Given the description of an element on the screen output the (x, y) to click on. 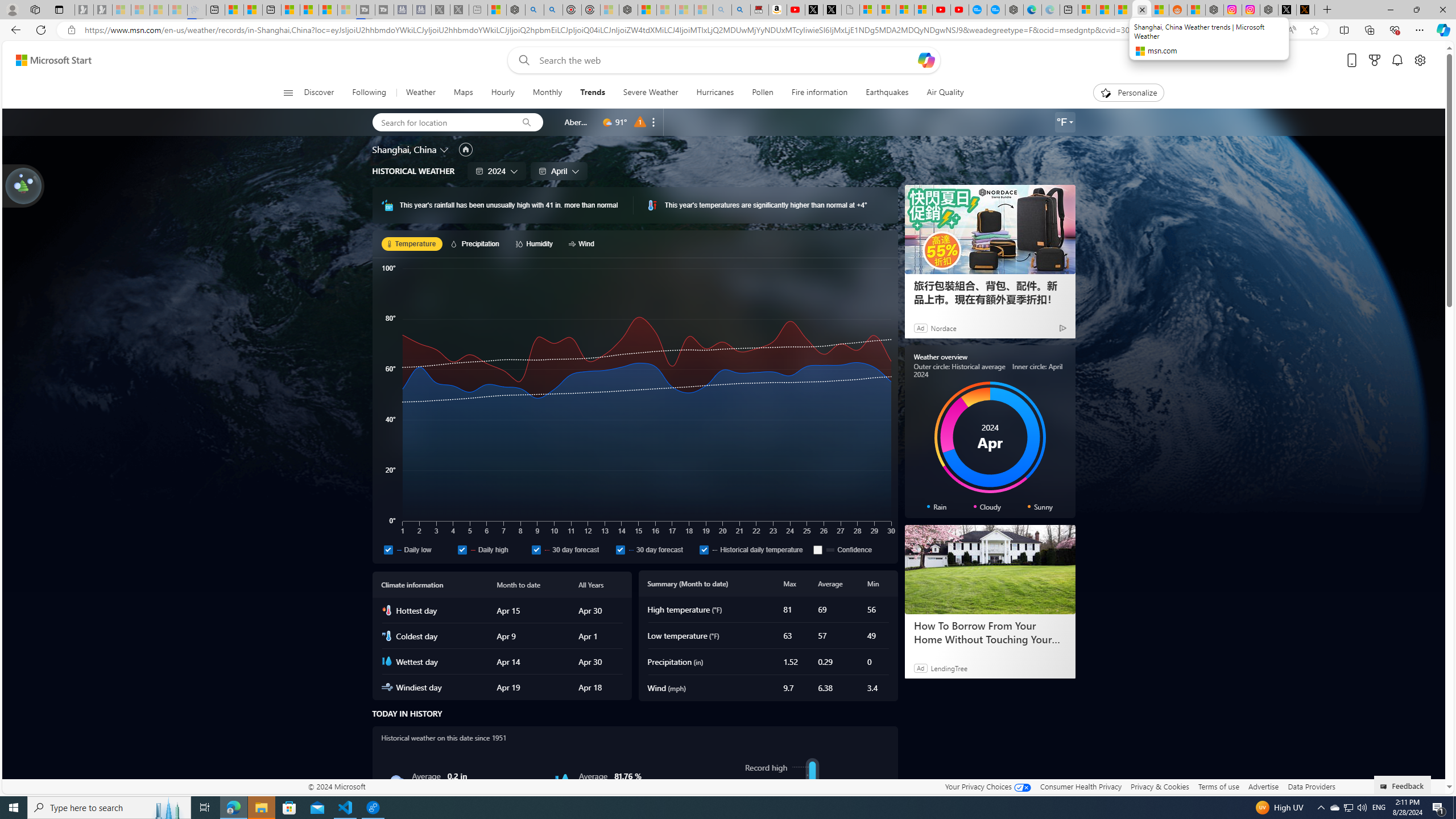
Consumer Health Privacy (1080, 785)
Set as primary location (465, 149)
Consumer Health Privacy (1080, 786)
Open navigation menu (287, 92)
Hurricanes (714, 92)
The most popular Google 'how to' searches (996, 9)
Precipitation (476, 243)
